Given the description of an element on the screen output the (x, y) to click on. 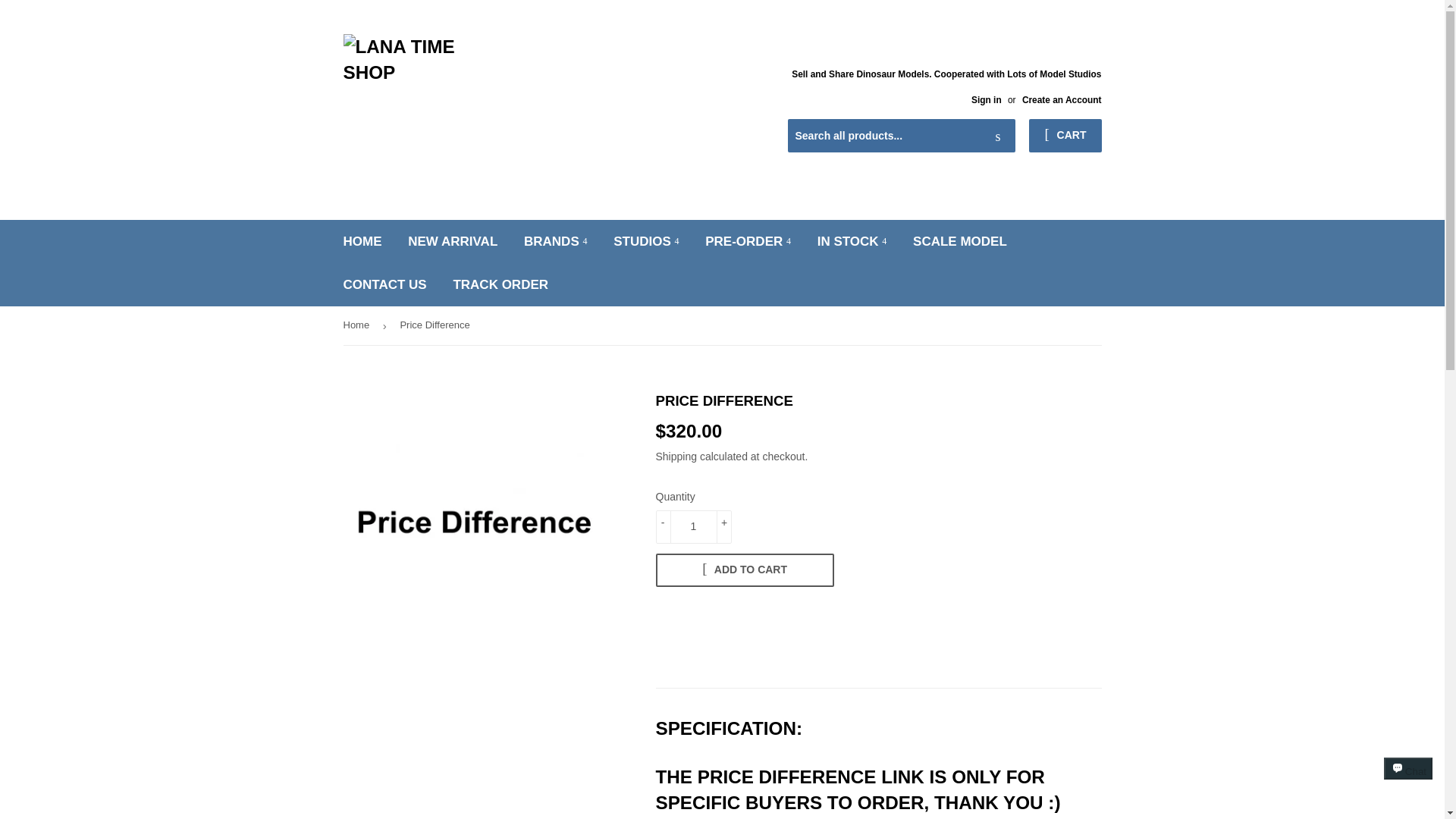
1 (692, 526)
Search (997, 136)
Create an Account (1062, 100)
Sign in (986, 100)
CART (1064, 135)
Shopify online store chat (1408, 781)
